Given the description of an element on the screen output the (x, y) to click on. 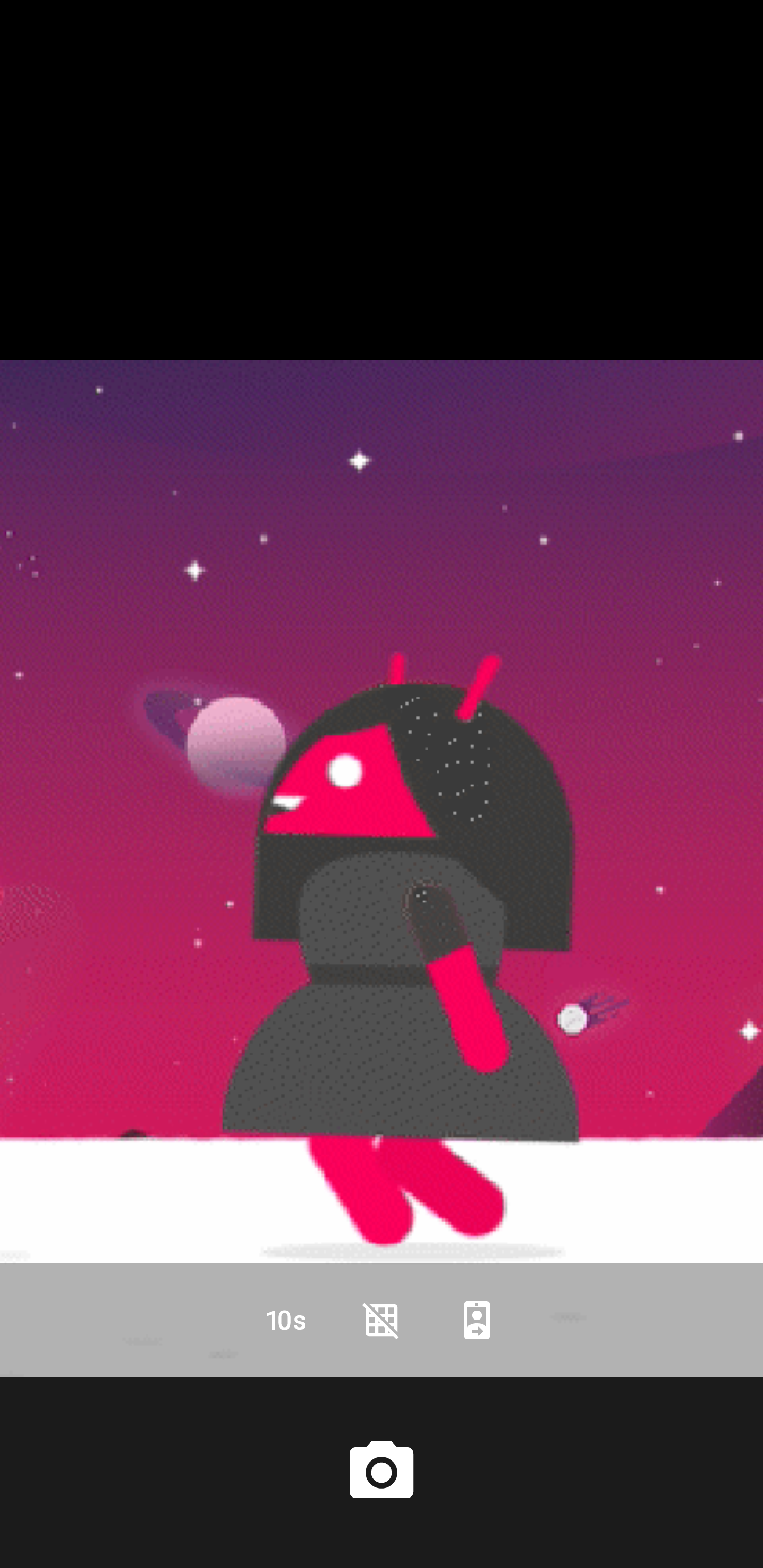
Countdown timer duration is set to 10 seconds (285, 1319)
Grid lines off (381, 1319)
Front camera (476, 1319)
Shutter (381, 1472)
